Given the description of an element on the screen output the (x, y) to click on. 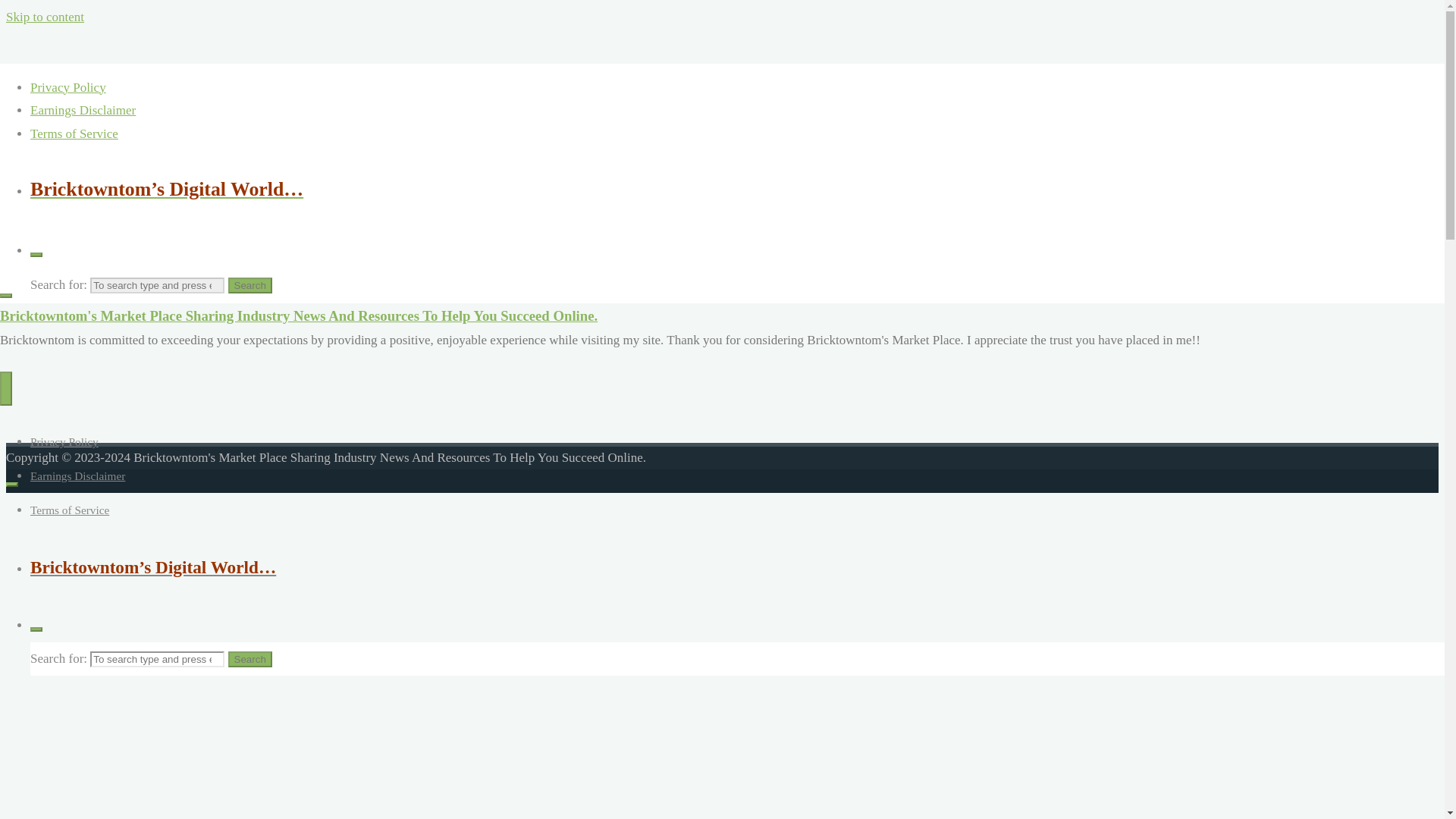
Privacy Policy (64, 440)
Earnings Disclaimer (82, 110)
Skip to content (44, 16)
Skip to content (44, 16)
Search (250, 285)
Terms of Service (73, 133)
Terms of Service (69, 509)
Earnings Disclaimer (77, 475)
